Given the description of an element on the screen output the (x, y) to click on. 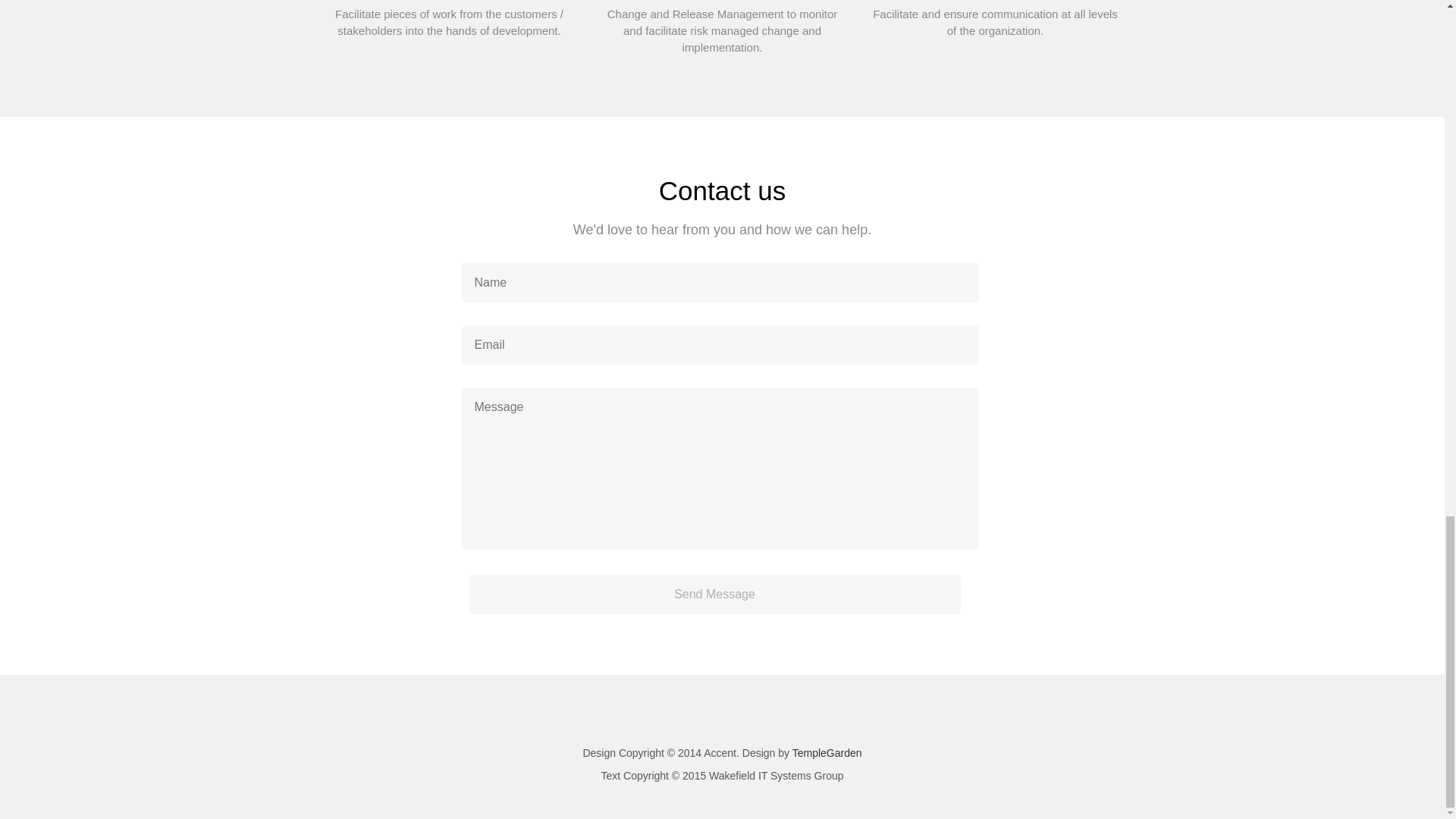
TempleGarden (826, 752)
Send Message (713, 594)
Send Message (713, 594)
